Given the description of an element on the screen output the (x, y) to click on. 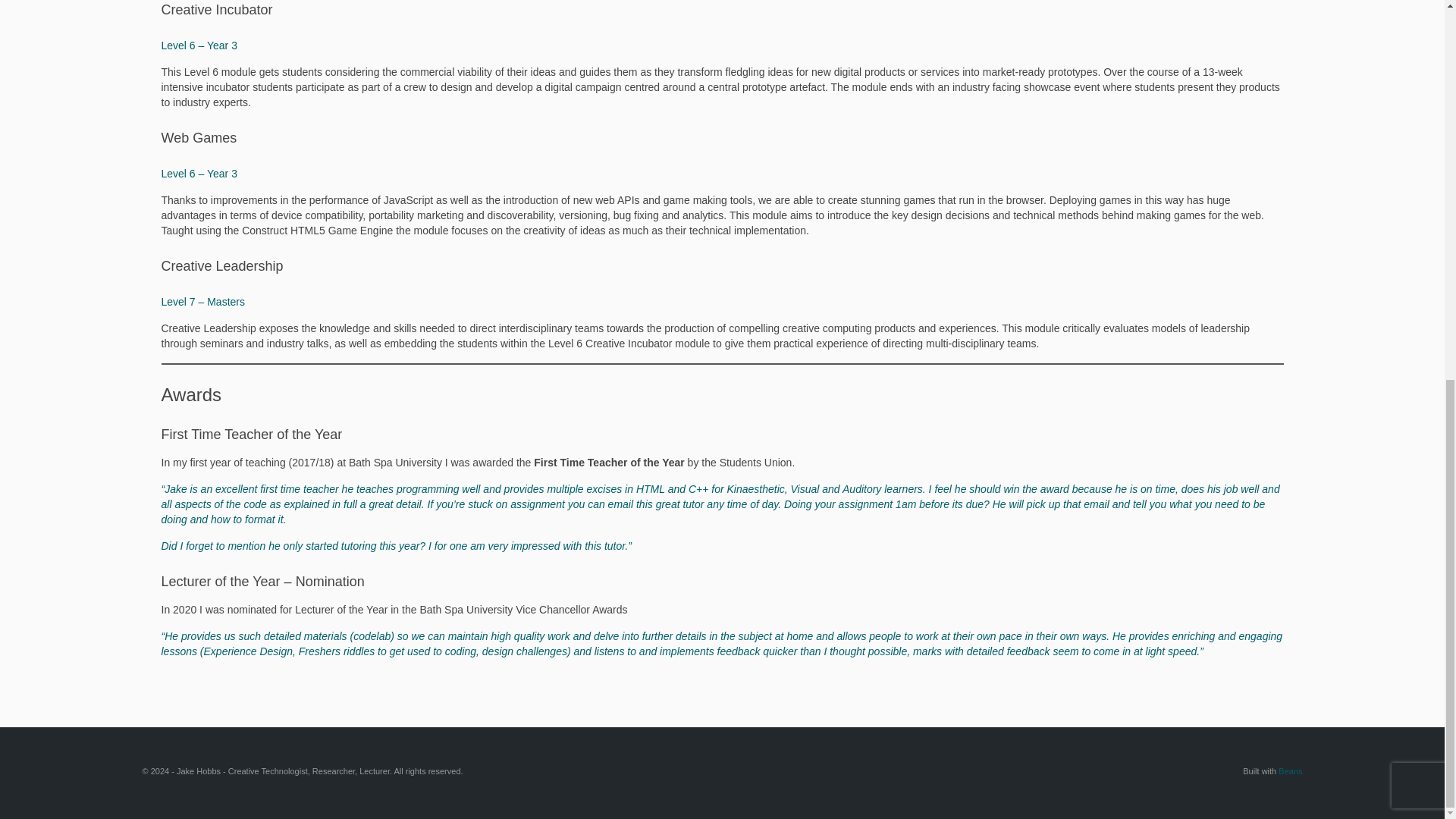
Beans (1289, 770)
